Given the description of an element on the screen output the (x, y) to click on. 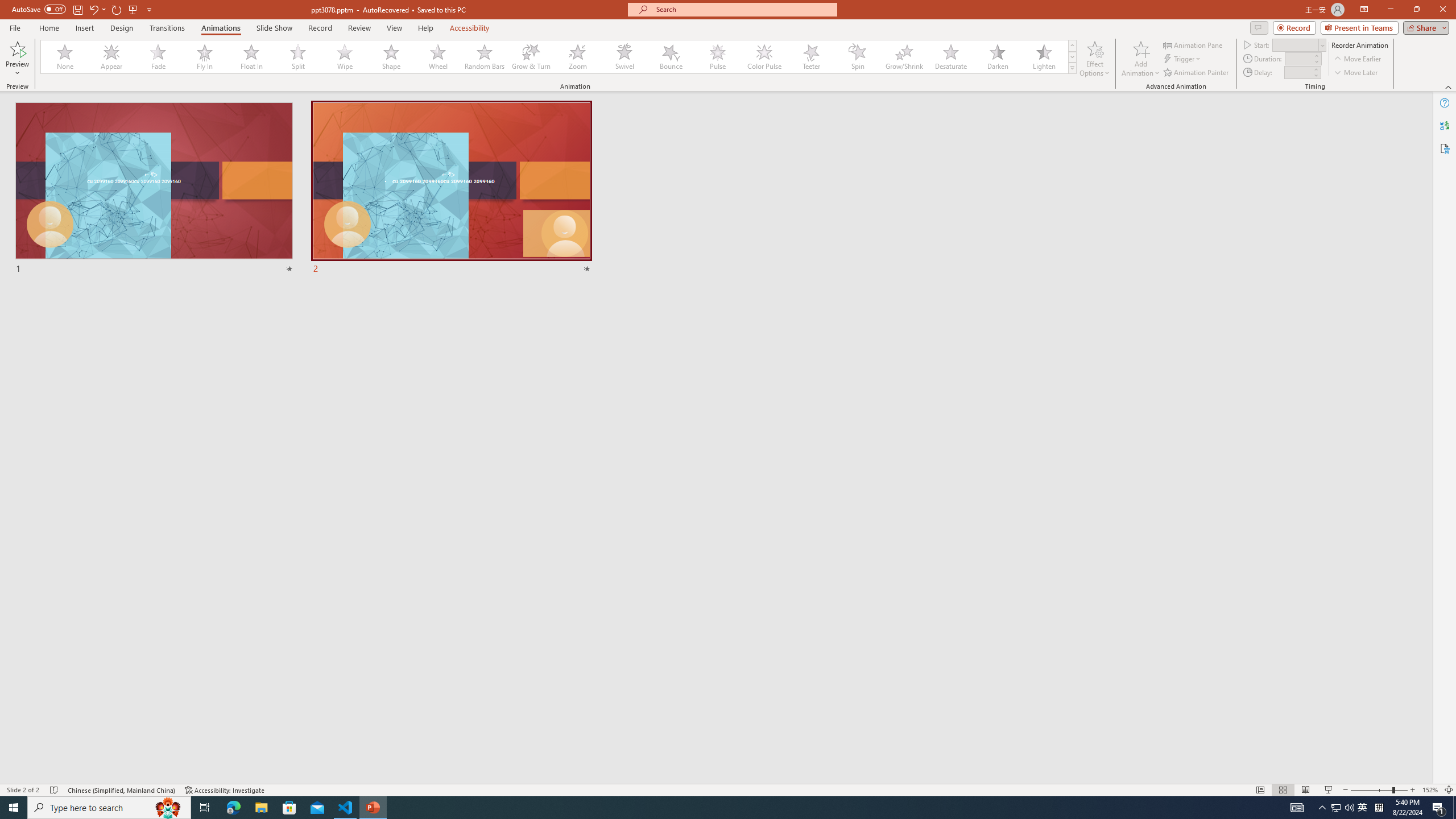
Animation Delay (1297, 72)
